Given the description of an element on the screen output the (x, y) to click on. 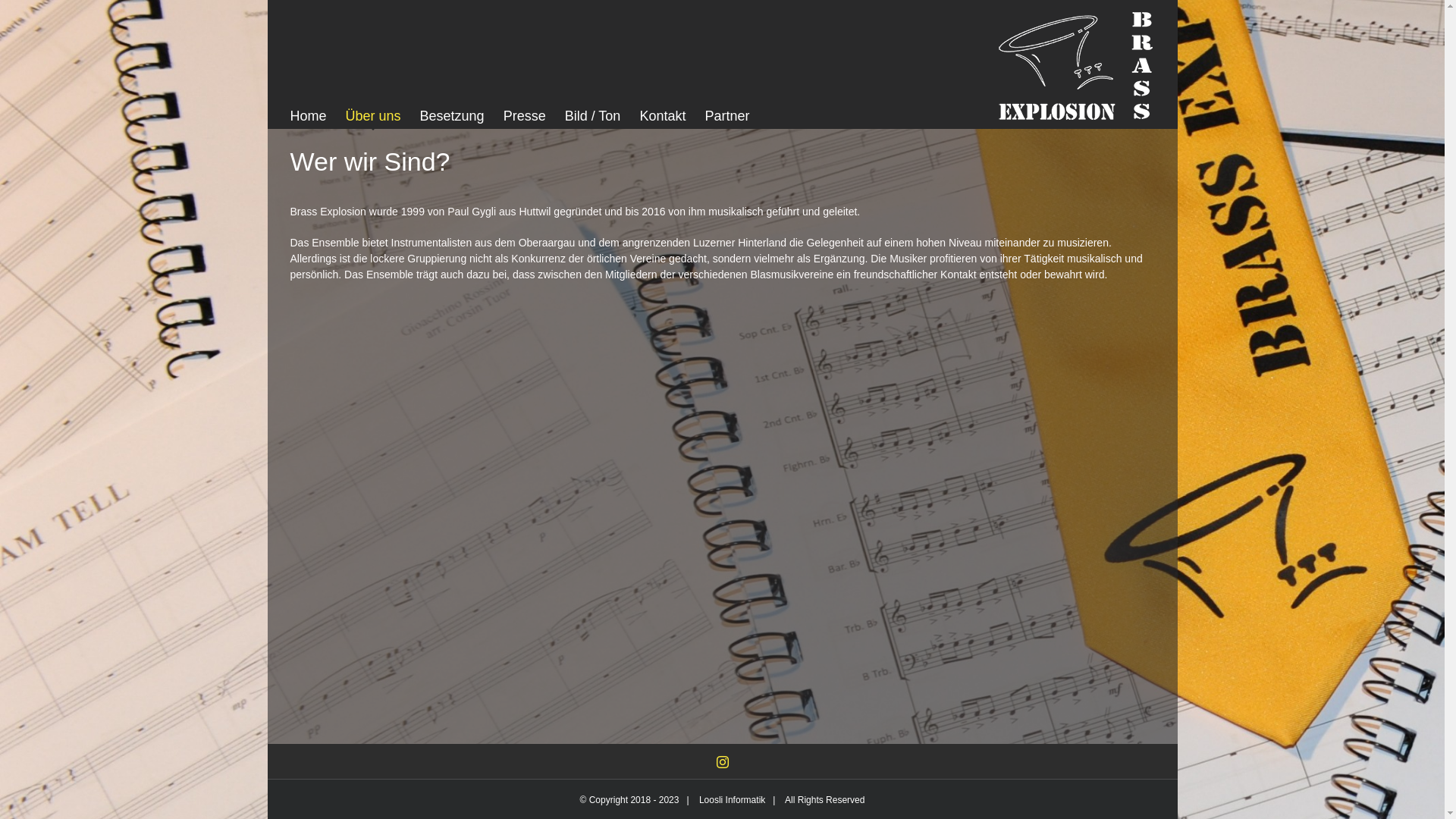
Presse Element type: text (524, 115)
Bild / Ton Element type: text (592, 115)
Partner Element type: text (726, 115)
Loosli Informatik Element type: text (732, 799)
Kontakt Element type: text (662, 115)
Home Element type: text (307, 115)
Besetzung Element type: text (452, 115)
